Given the description of an element on the screen output the (x, y) to click on. 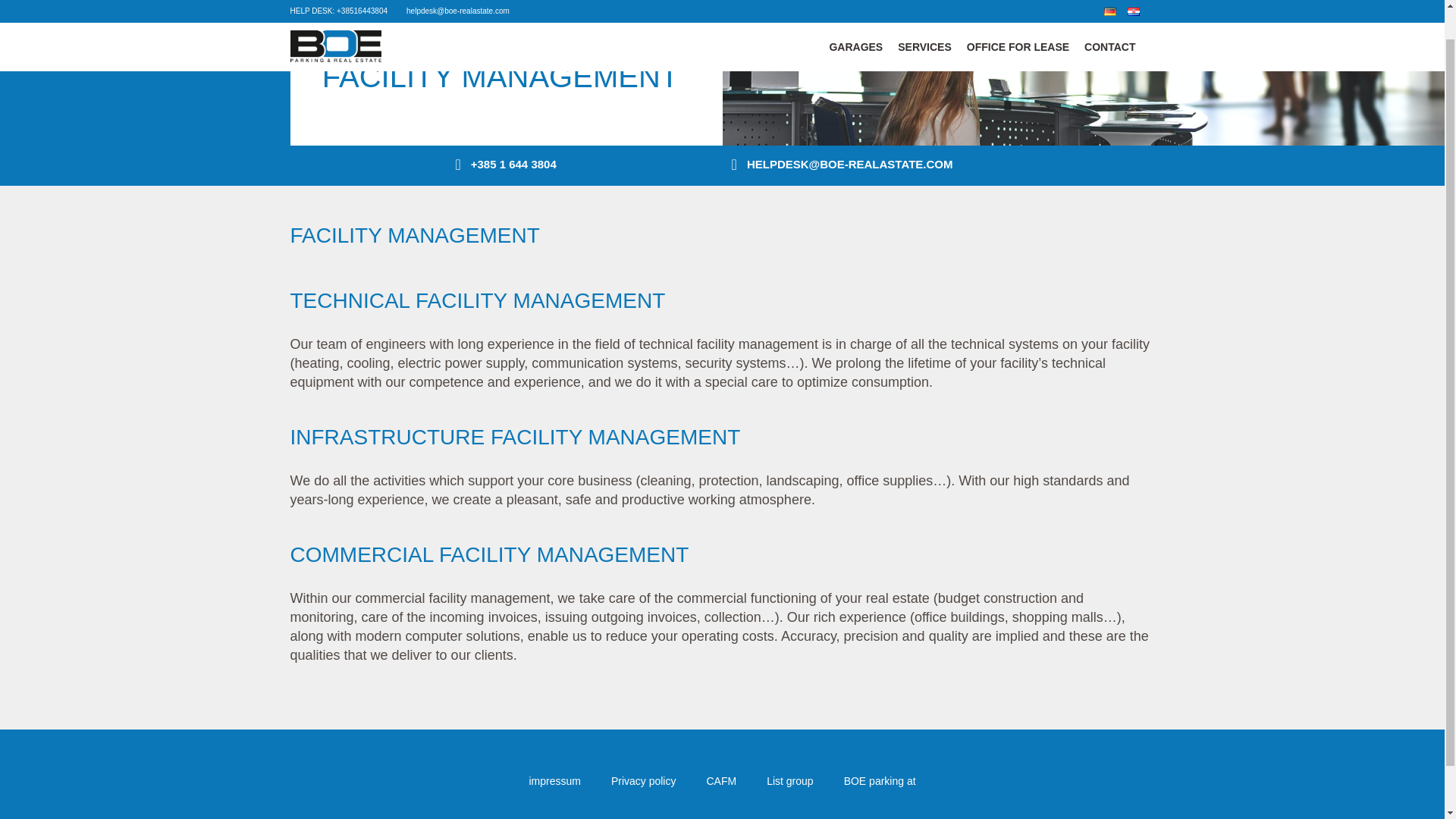
OFFICE FOR LEASE (1018, 15)
CONTACT (1109, 15)
CAFM (721, 786)
GARAGES (855, 15)
SERVICES (924, 15)
impressum (553, 786)
Privacy policy (644, 786)
BOE parking at (879, 786)
List group (789, 786)
